Given the description of an element on the screen output the (x, y) to click on. 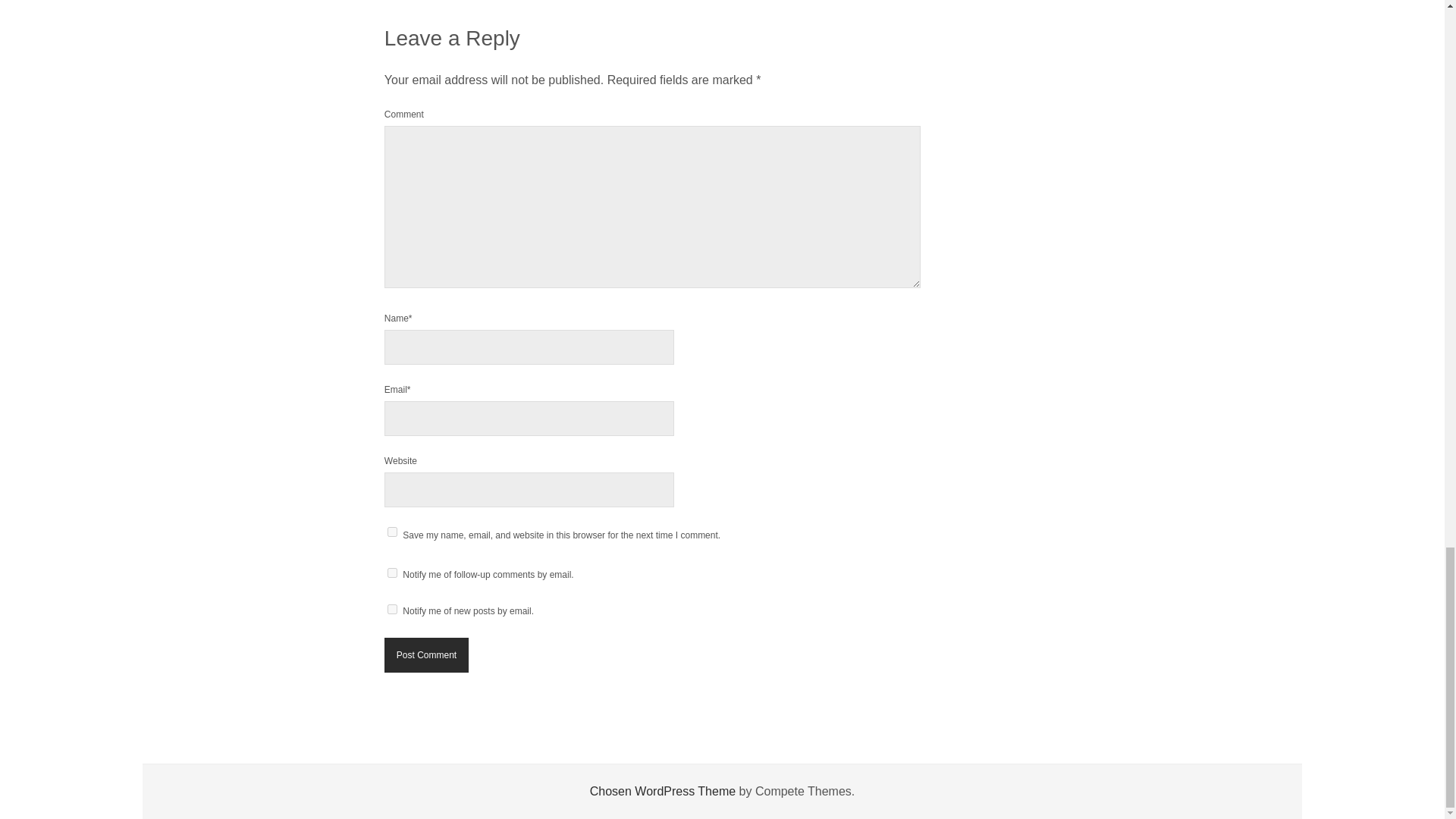
Post Comment (426, 655)
subscribe (392, 573)
yes (392, 532)
Chosen WordPress Theme (662, 790)
subscribe (392, 609)
Post Comment (426, 655)
